Given the description of an element on the screen output the (x, y) to click on. 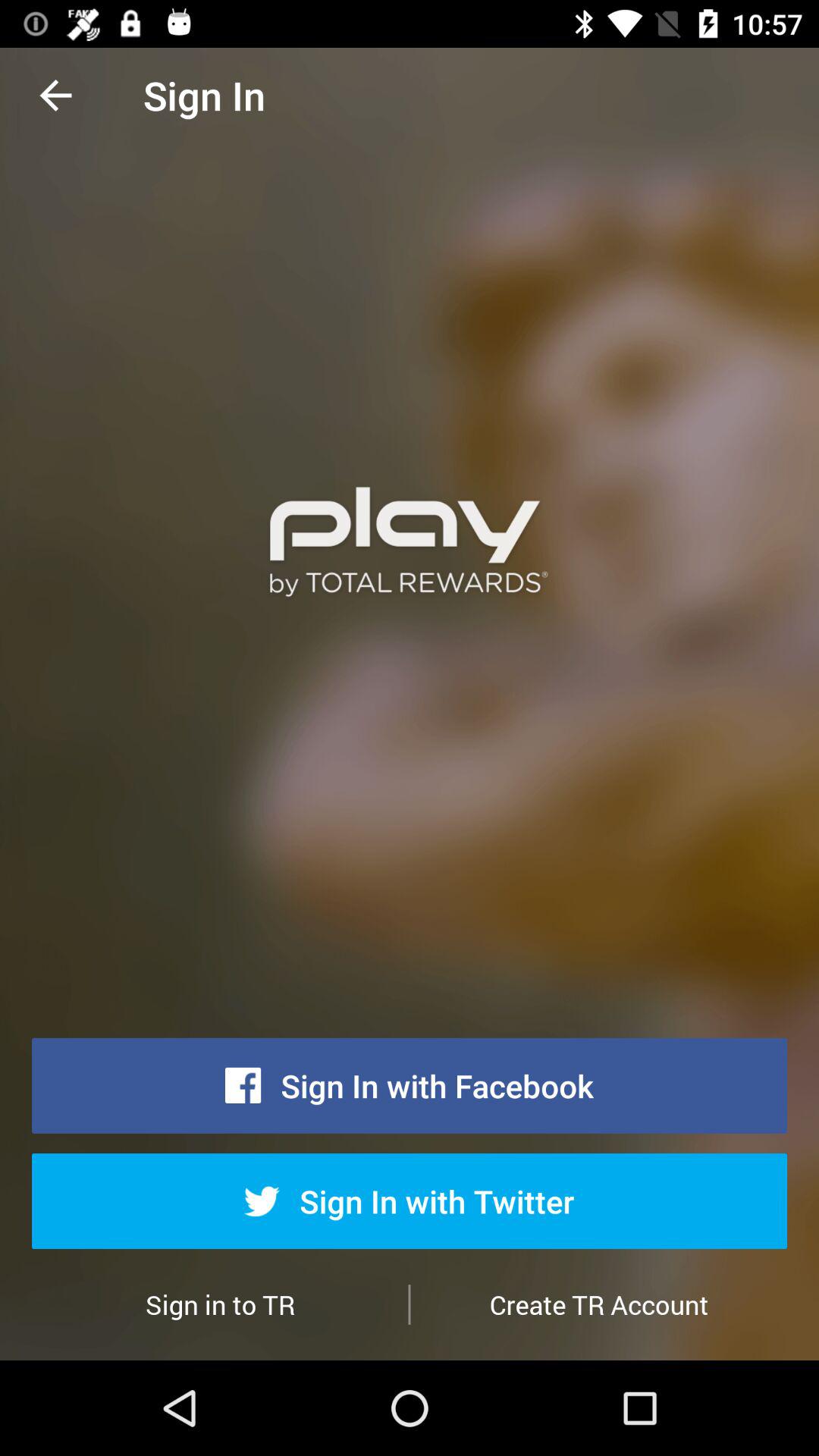
turn on the item at the bottom right corner (598, 1304)
